Given the description of an element on the screen output the (x, y) to click on. 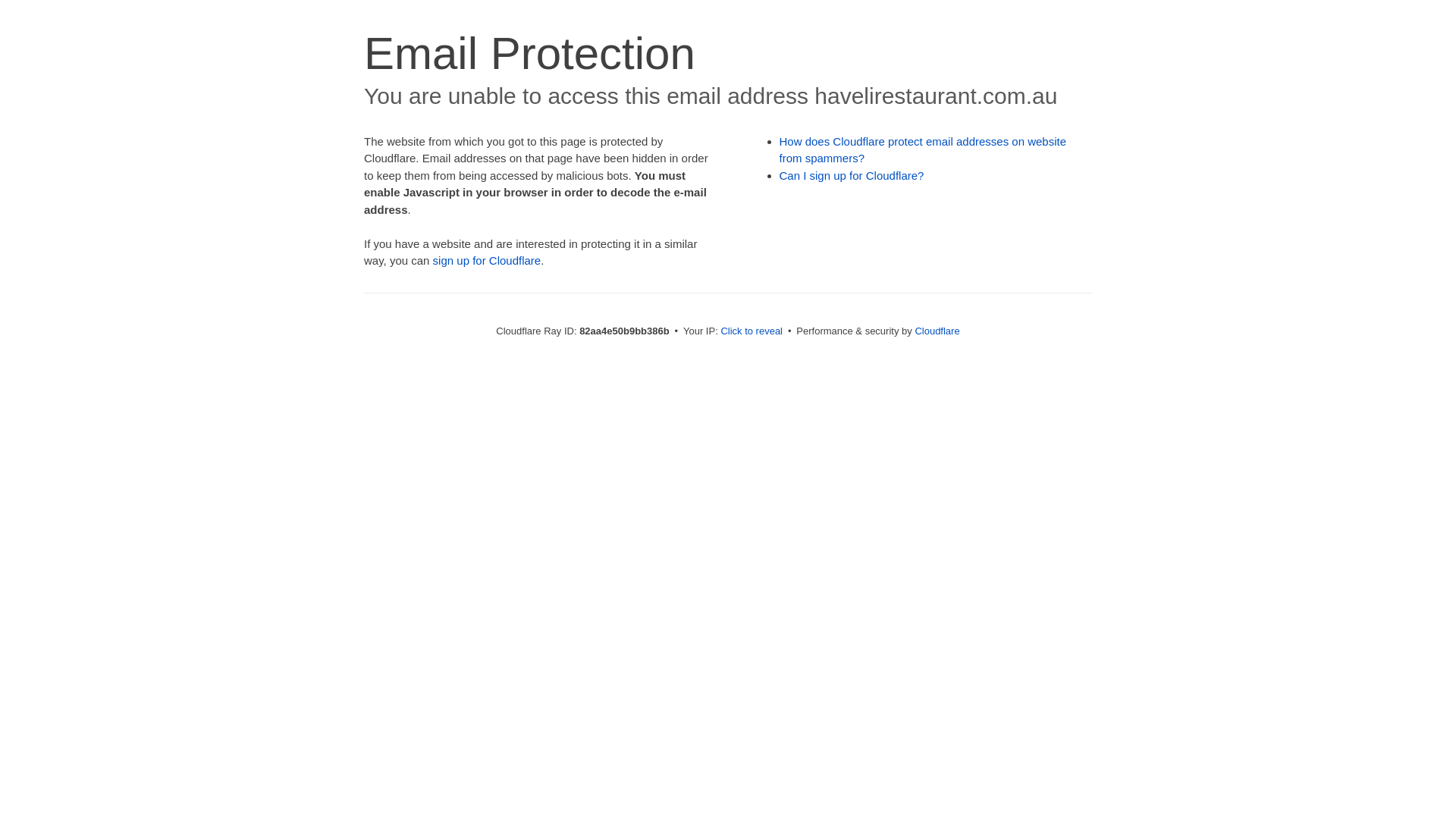
sign up for Cloudflare Element type: text (487, 260)
Click to reveal Element type: text (751, 330)
Can I sign up for Cloudflare? Element type: text (851, 175)
Cloudflare Element type: text (936, 330)
